Given the description of an element on the screen output the (x, y) to click on. 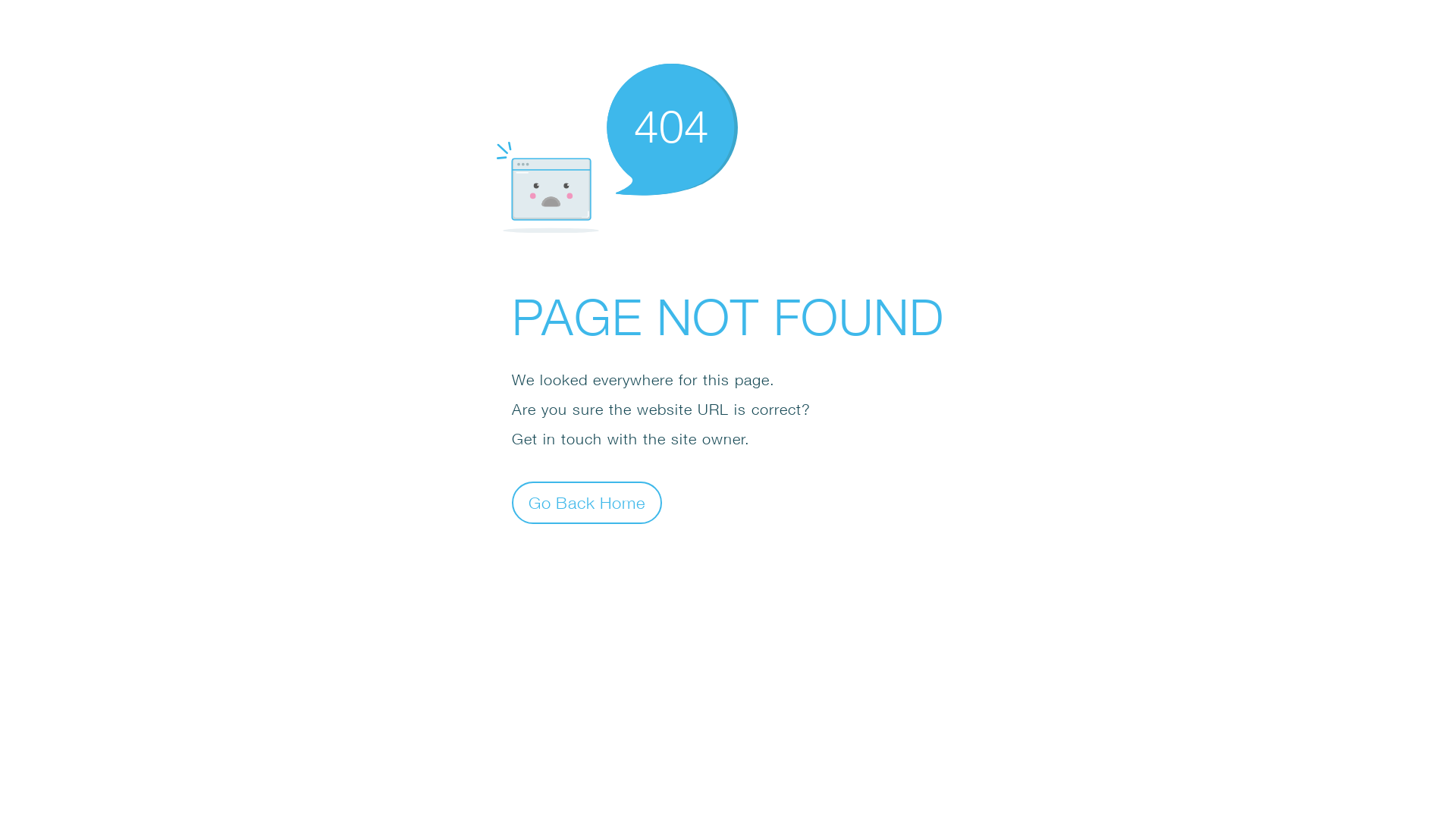
Go Back Home Element type: text (586, 502)
